Given the description of an element on the screen output the (x, y) to click on. 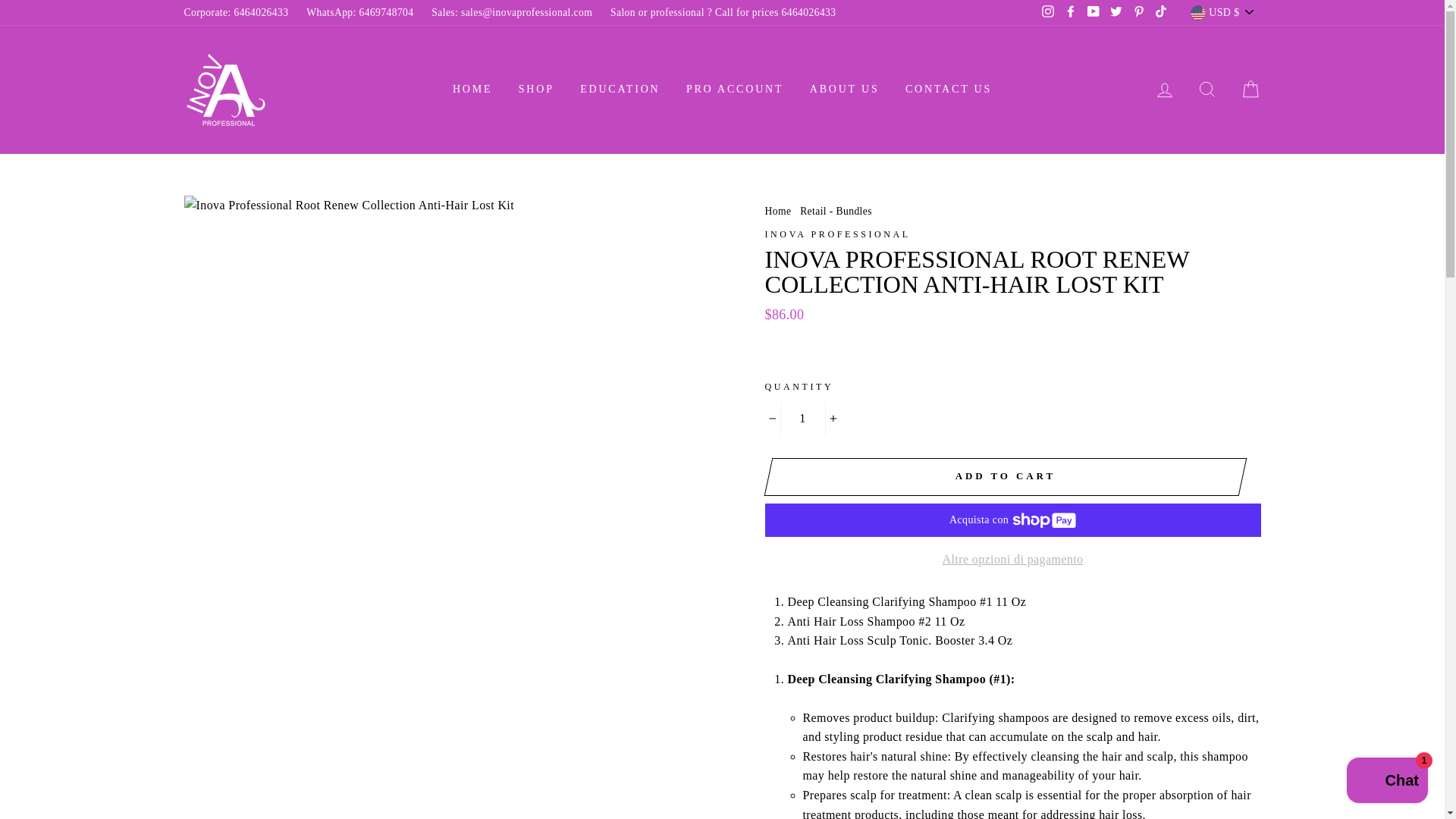
Inova Professional (837, 234)
1 (802, 418)
Back to the frontpage (777, 211)
